Given the description of an element on the screen output the (x, y) to click on. 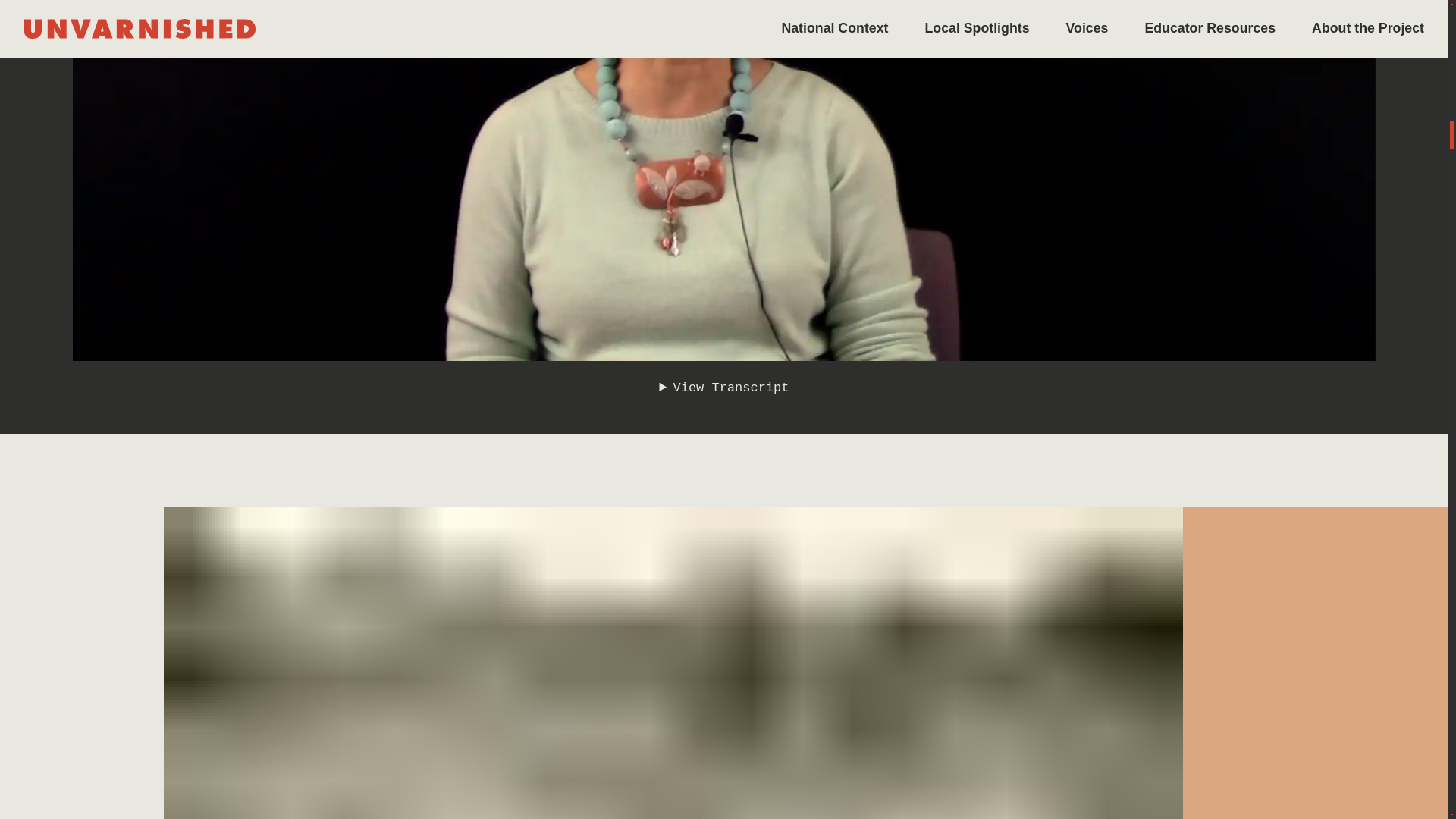
PLAY (117, 10)
